Given the description of an element on the screen output the (x, y) to click on. 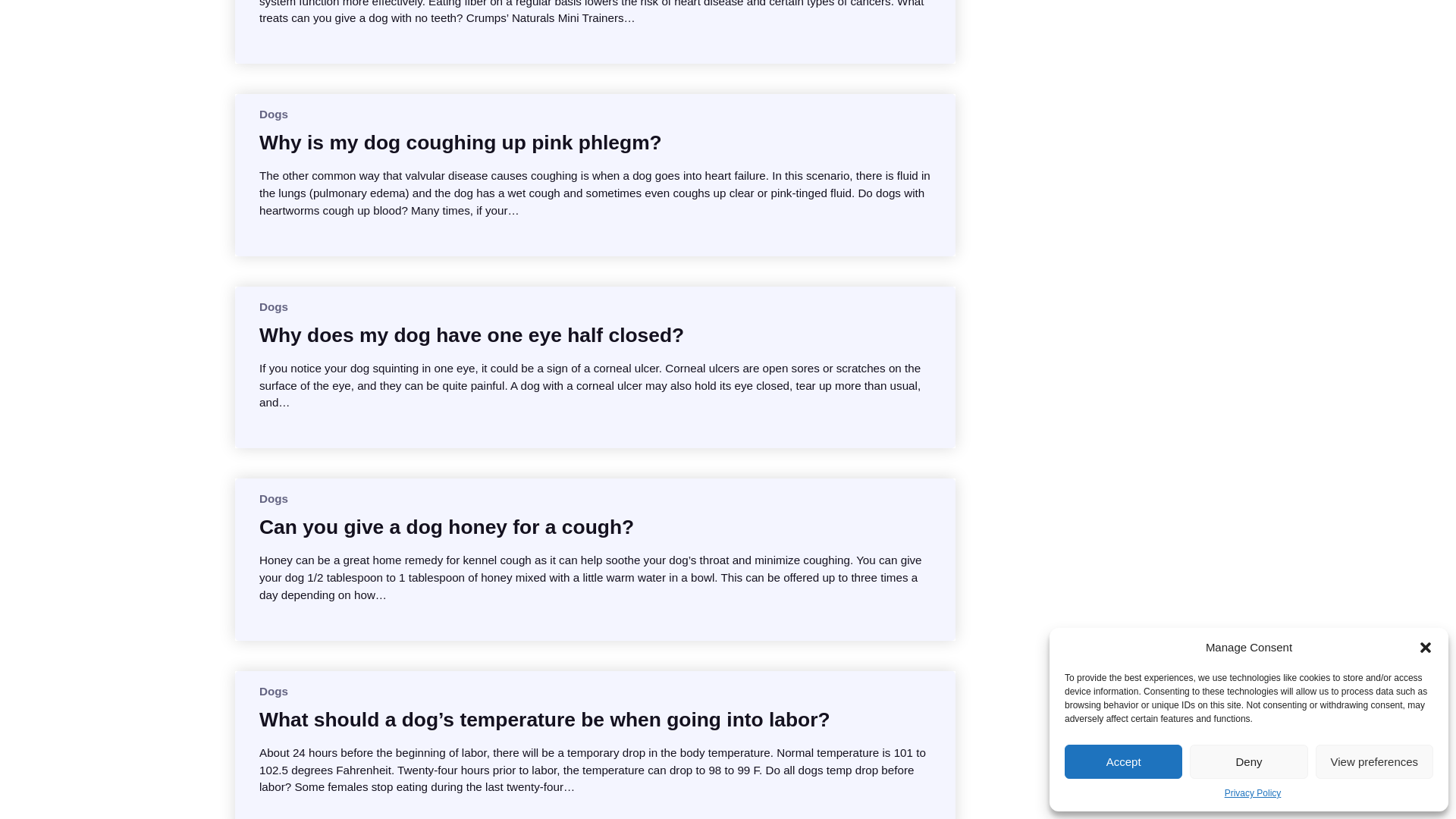
Dogs (273, 113)
Can you give a dog honey for a cough? (446, 526)
Dogs (273, 306)
Dogs (273, 690)
Why does my dog have one eye half closed? (471, 335)
Dogs (273, 498)
Why is my dog coughing up pink phlegm? (460, 142)
